Given the description of an element on the screen output the (x, y) to click on. 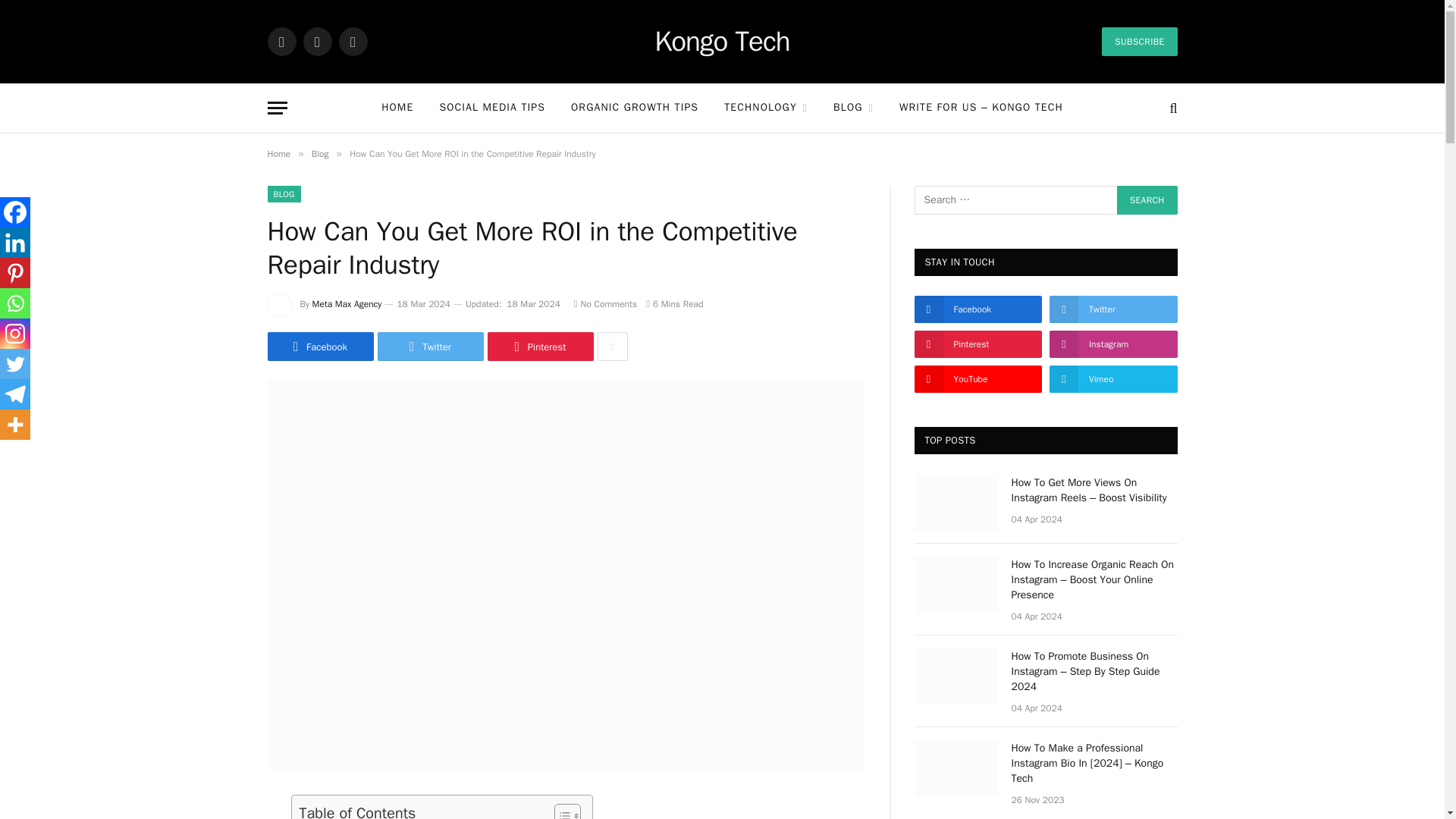
HOME (397, 107)
ORGANIC GROWTH TIPS (634, 107)
Search (1146, 199)
Twitter (316, 41)
Share on Pinterest (539, 346)
Facebook (280, 41)
Instagram (351, 41)
Kongo Tech (721, 41)
Kongo Tech (721, 41)
Share on Facebook (319, 346)
